Given the description of an element on the screen output the (x, y) to click on. 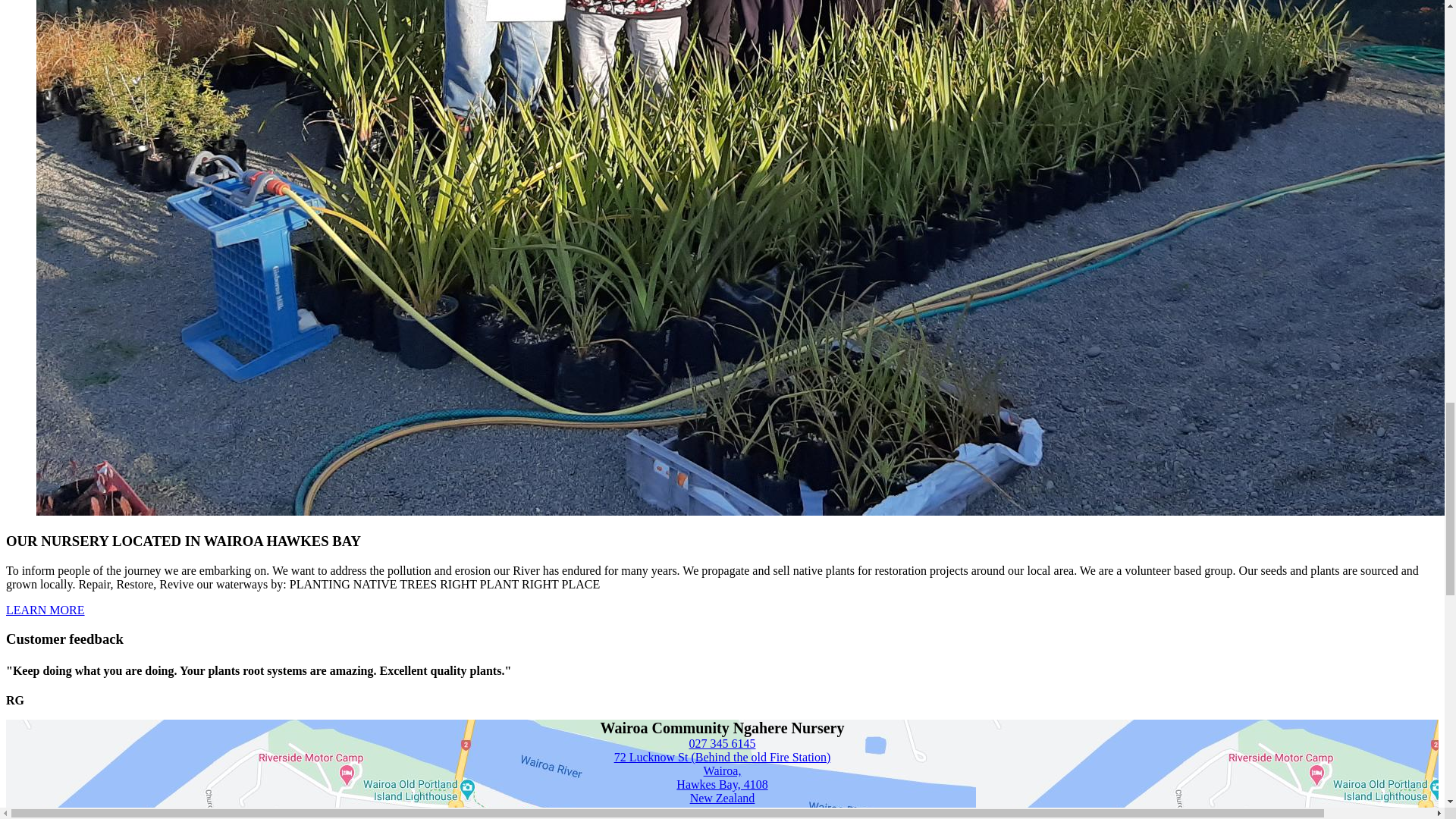
LEARN MORE (44, 609)
027 345 6145 (721, 743)
